Given the description of an element on the screen output the (x, y) to click on. 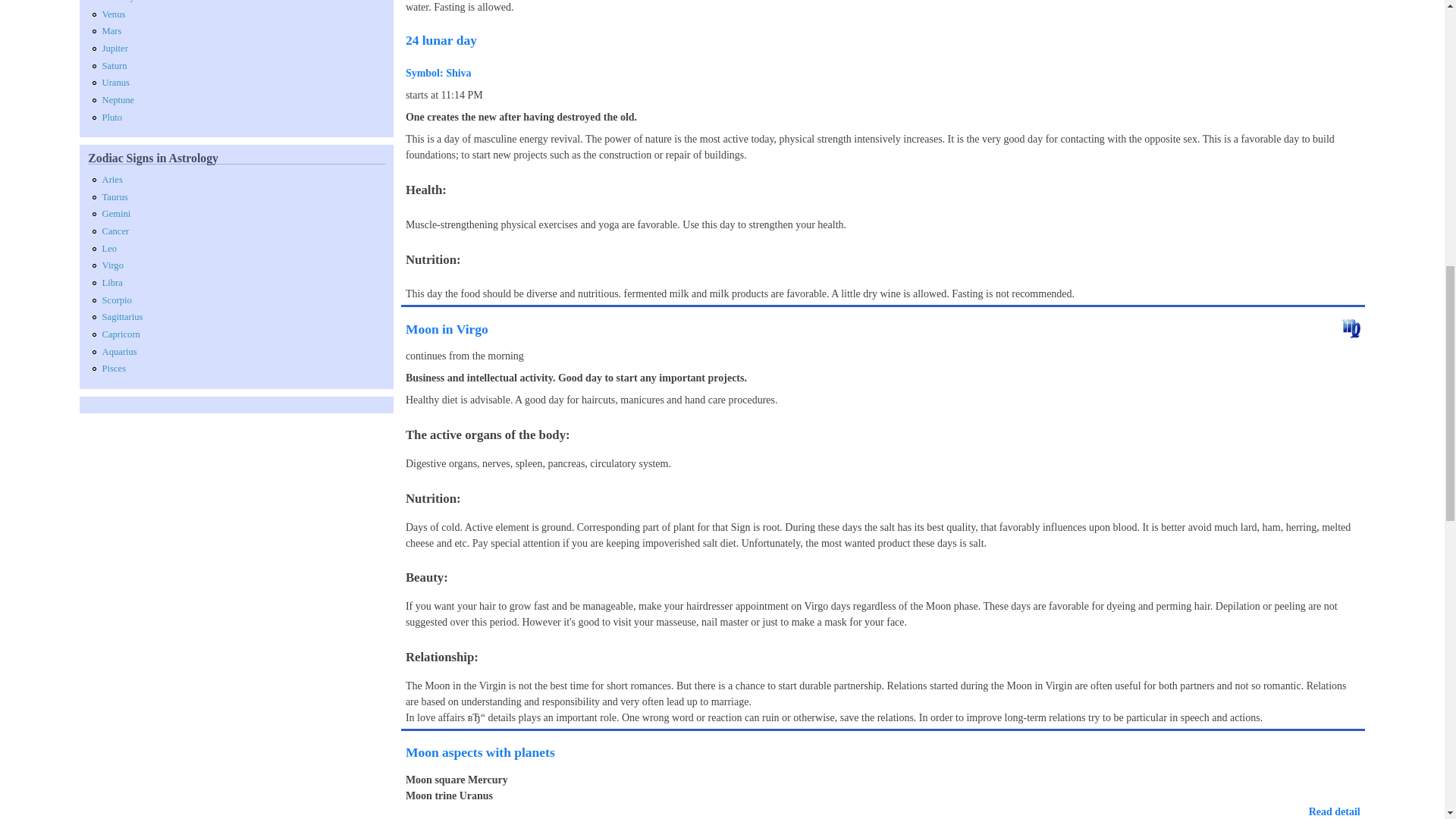
Moon in Virgo (446, 328)
Symbol: Shiva (438, 72)
24 lunar day (441, 39)
